Given the description of an element on the screen output the (x, y) to click on. 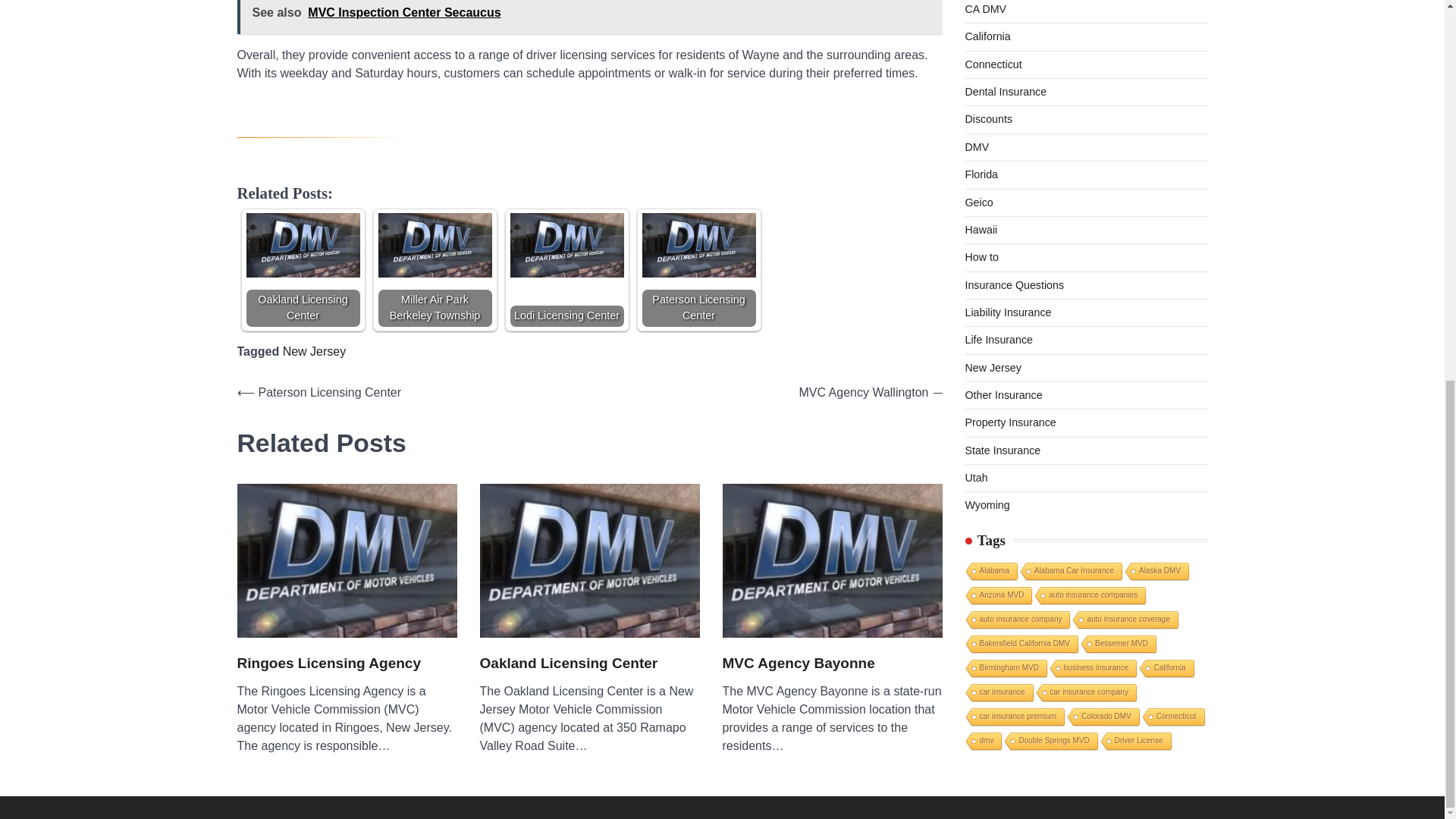
Paterson Licensing Center (698, 244)
Miller Air Park Berkeley Township (434, 244)
Oakland Licensing Center (302, 244)
Lodi Licensing Center (566, 269)
Oakland Licensing Center (302, 269)
Miller Air Park Berkeley Township (434, 269)
Lodi Licensing Center (566, 244)
See also  MVC Inspection Center Secaucus (588, 17)
